Given the description of an element on the screen output the (x, y) to click on. 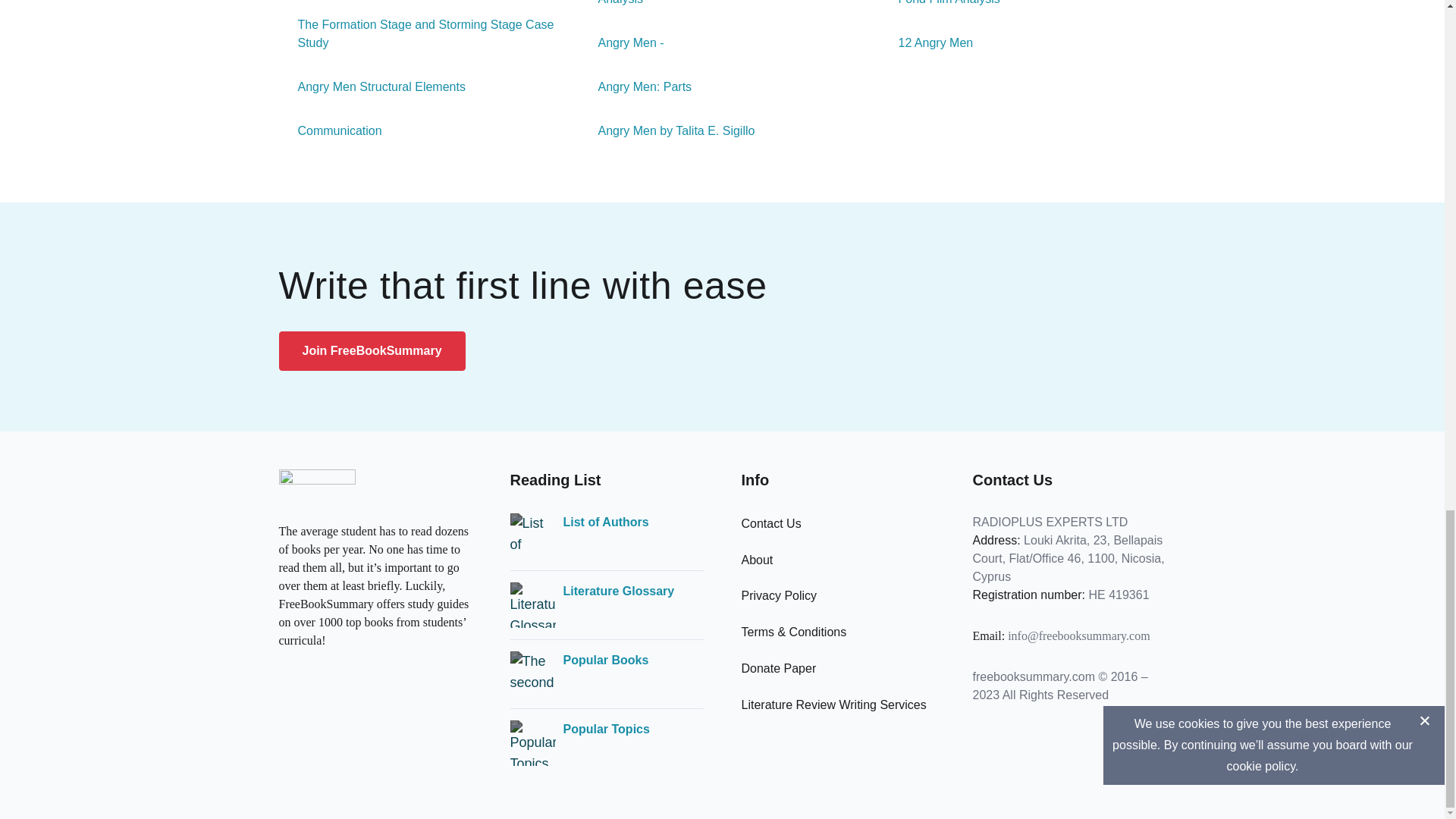
List of Authors (604, 522)
Popular Topics (605, 729)
Literature Glossary (618, 591)
Old Prejudices can Affect the Verdict Book Analysis (722, 4)
Angry Men by Talita E. Sigillo (667, 131)
Contact Us (771, 522)
12 Angry Men (926, 43)
Communication (330, 131)
The Formation Stage and Storming Stage Case Study (422, 33)
Privacy Policy (778, 594)
